Given the description of an element on the screen output the (x, y) to click on. 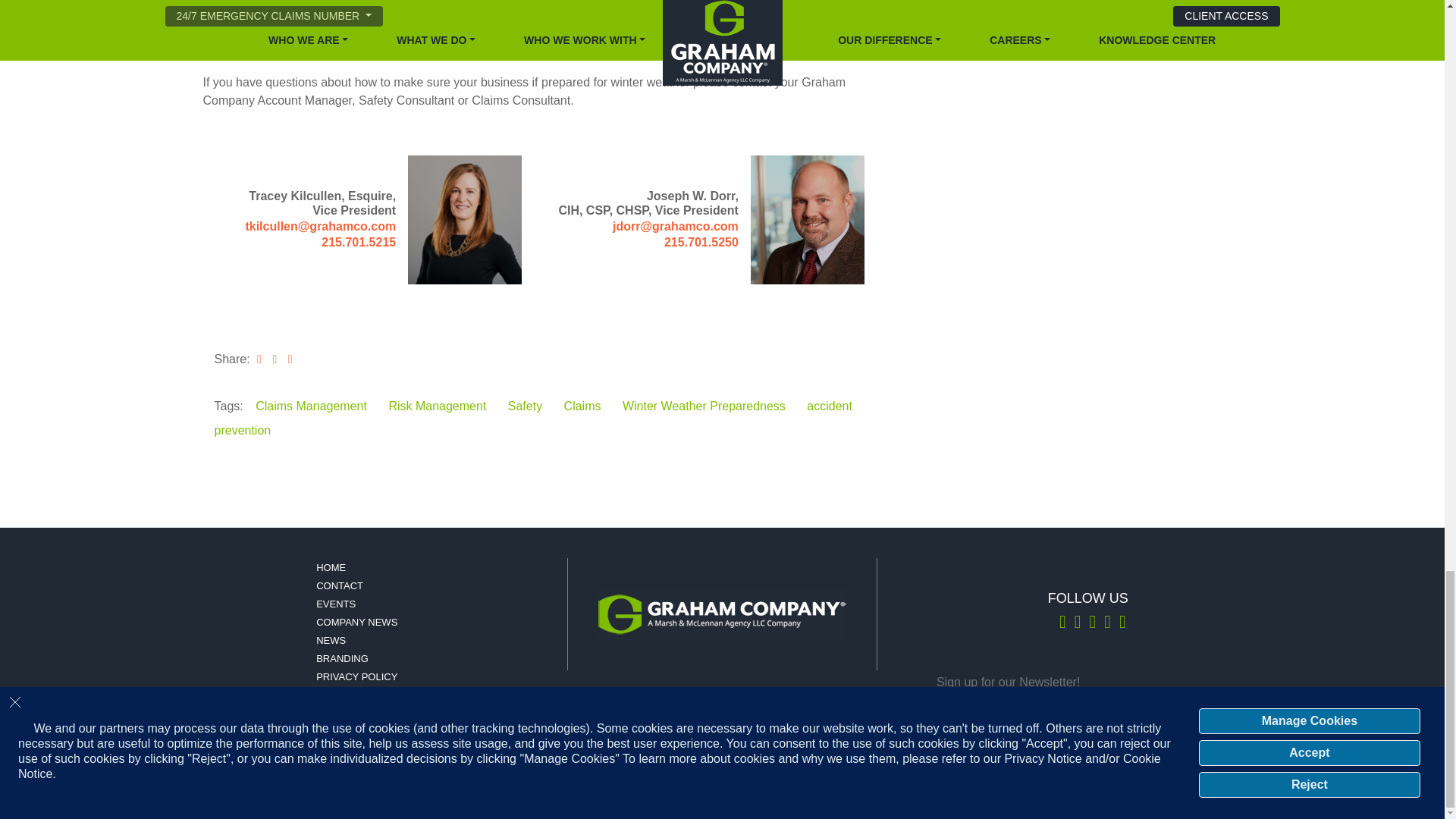
Instagram (1091, 624)
LinkedIn (1077, 624)
Twitter (1062, 624)
Facebook (1107, 624)
Youtube (1122, 624)
